Given the description of an element on the screen output the (x, y) to click on. 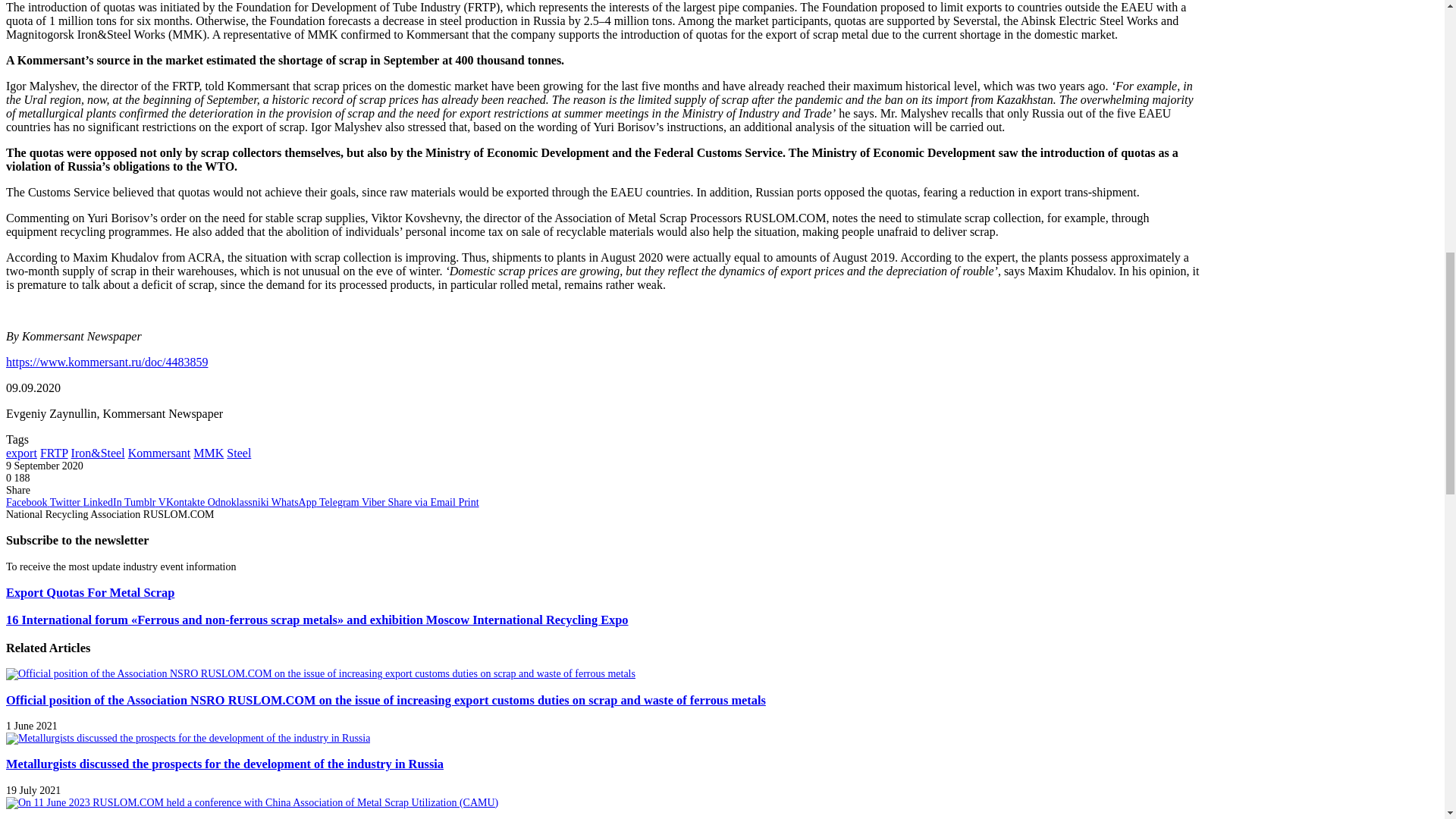
Facebook (27, 501)
Tumblr (140, 501)
VKontakte (183, 501)
Telegram (339, 501)
Twitter (65, 501)
Odnoklassniki (239, 501)
LinkedIn (102, 501)
WhatsApp (294, 501)
Print (468, 501)
Viber (374, 501)
Share via Email (422, 501)
